Given the description of an element on the screen output the (x, y) to click on. 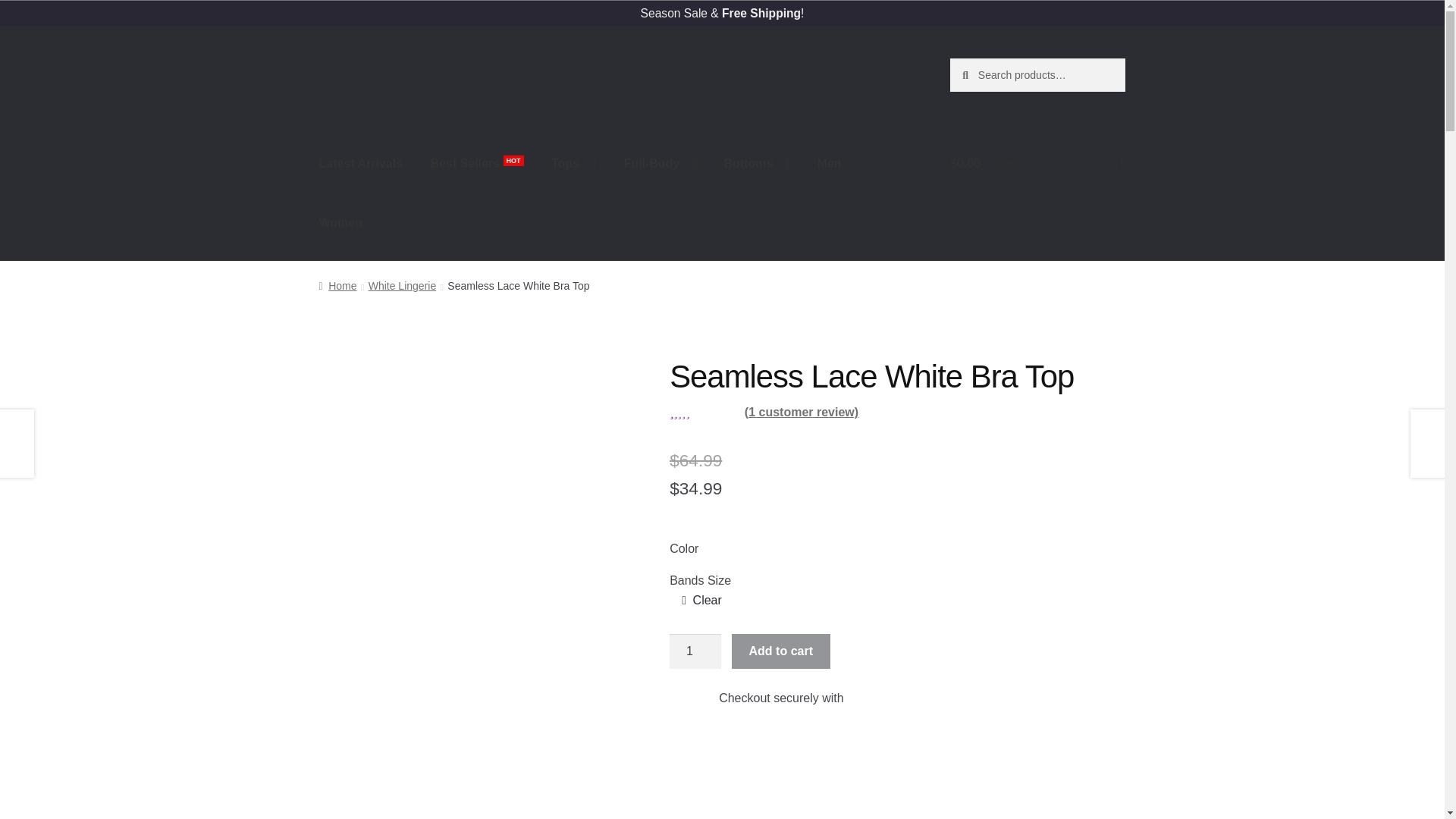
Tops (573, 163)
Best Sellers HOT (477, 163)
Women (340, 222)
1 (694, 651)
View your shopping cart (1037, 163)
Latest Arrivals (360, 163)
Bottoms (756, 163)
Full-Body (659, 163)
